Given the description of an element on the screen output the (x, y) to click on. 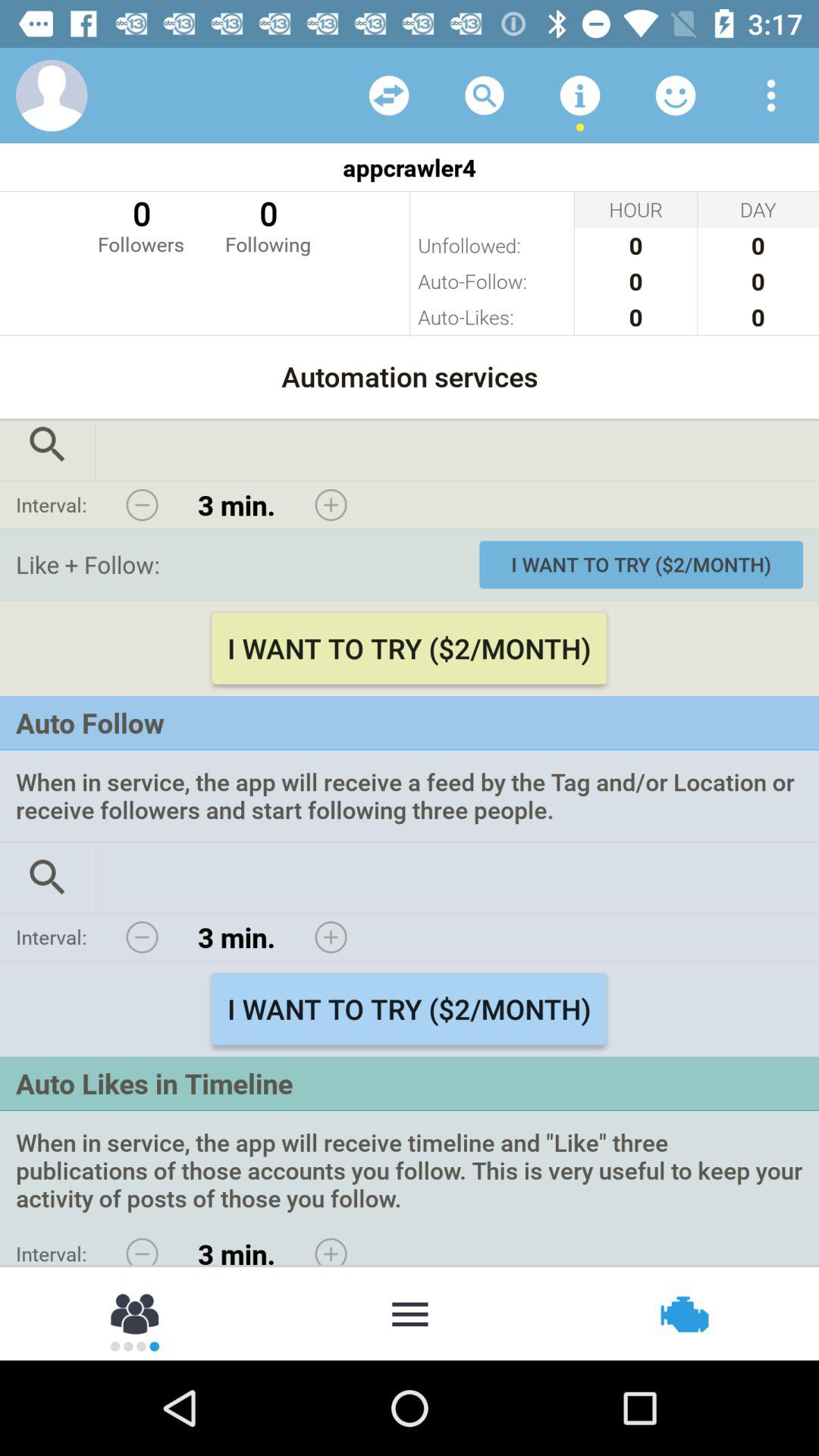
search (47, 450)
